Given the description of an element on the screen output the (x, y) to click on. 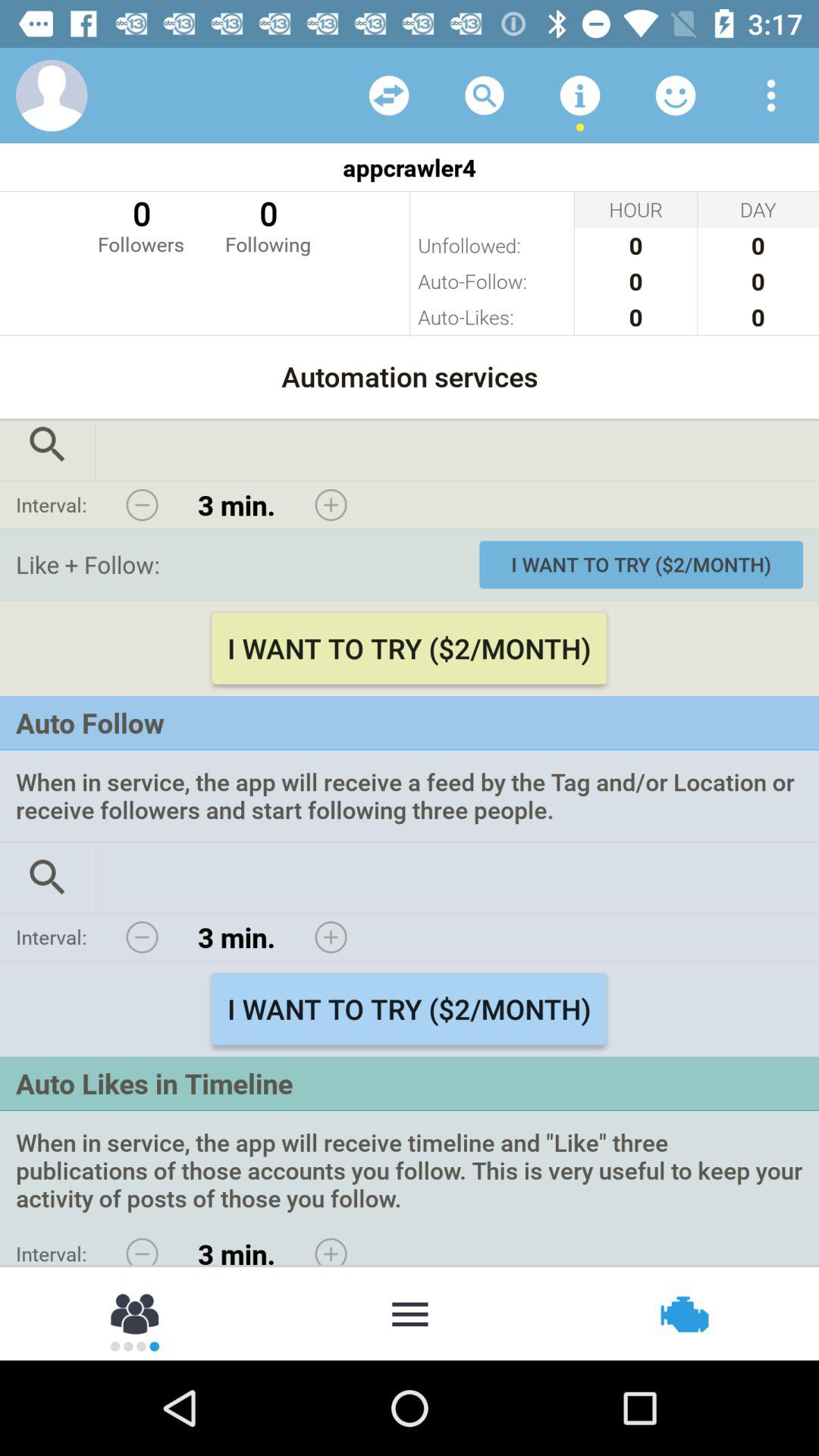
search (47, 450)
